Given the description of an element on the screen output the (x, y) to click on. 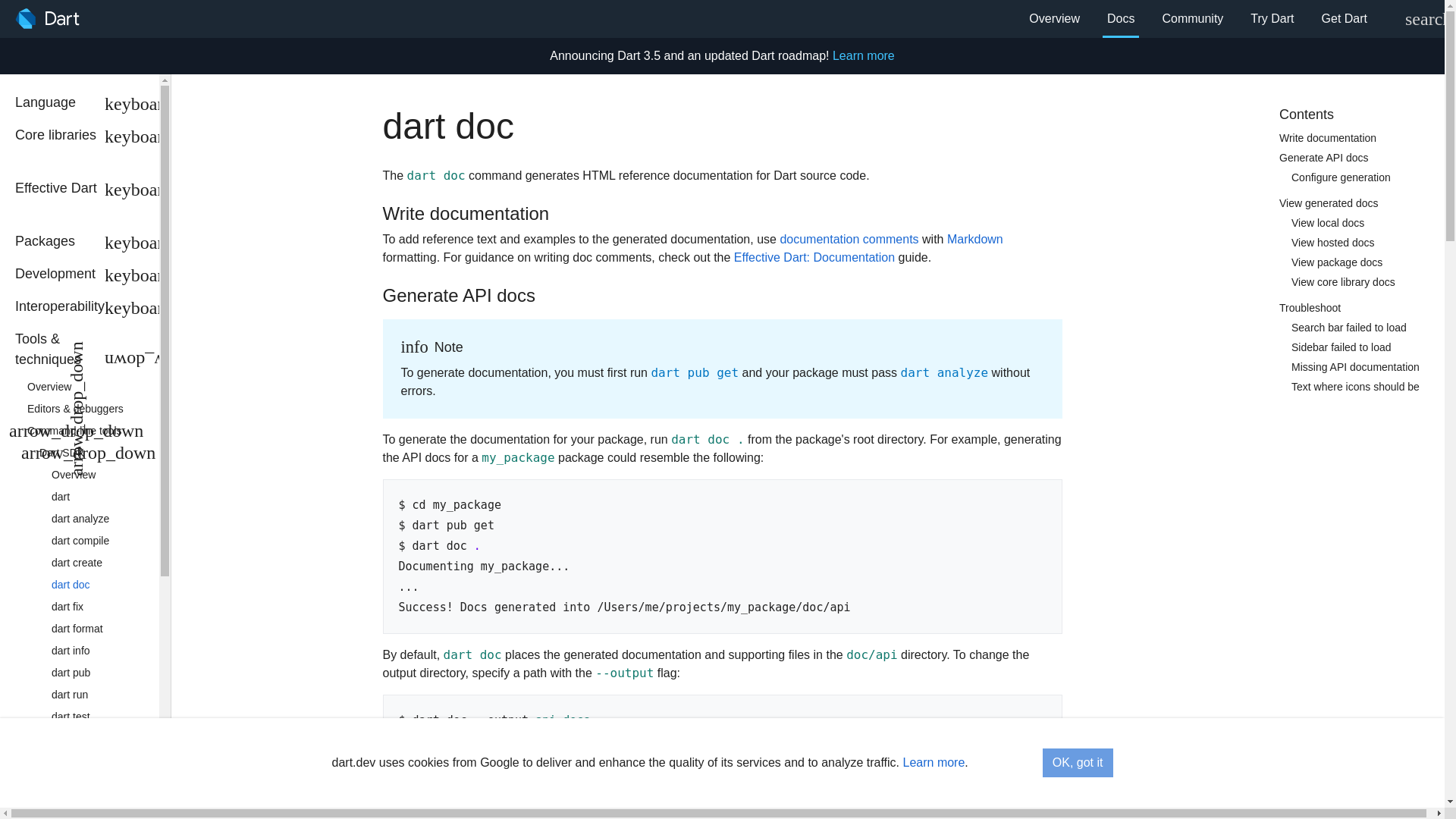
Dart (47, 18)
Overview (1054, 18)
Learn more (863, 55)
Community (1192, 18)
Language (143, 105)
Get Dart (1344, 18)
Try Dart (1272, 18)
Docs (1120, 18)
